Given the description of an element on the screen output the (x, y) to click on. 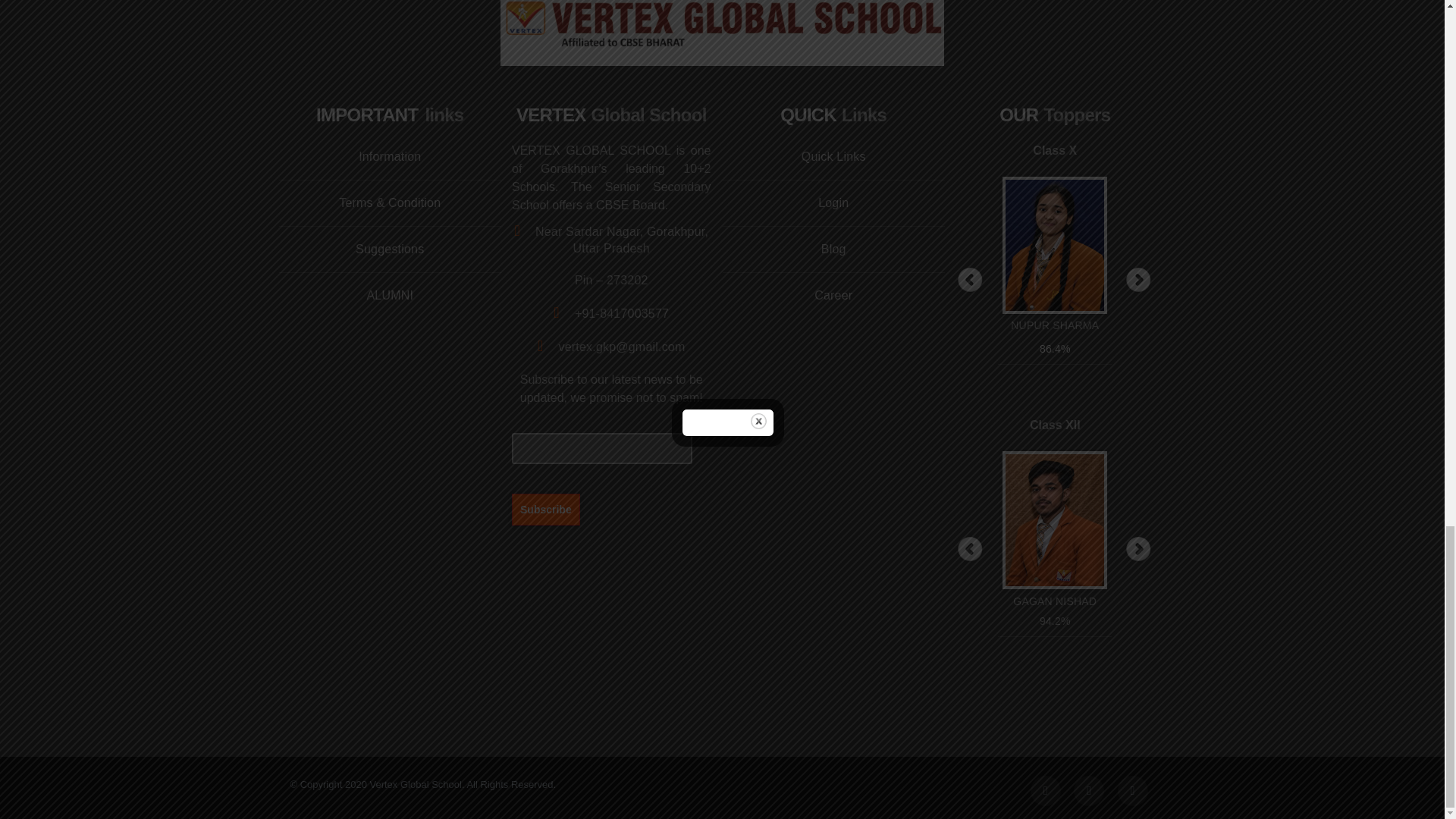
Subscribe (545, 508)
